Given the description of an element on the screen output the (x, y) to click on. 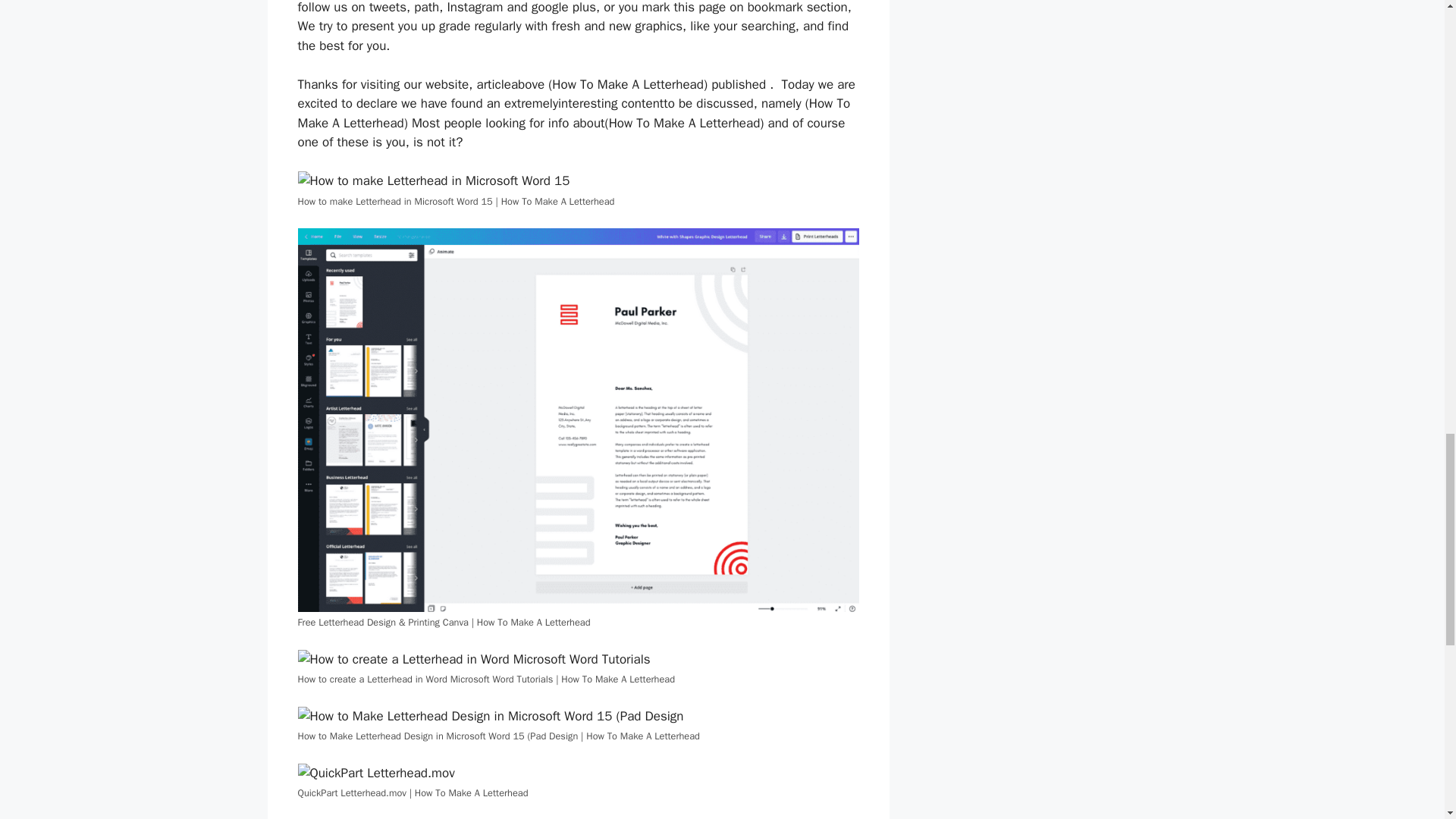
How to create a Letterhead in Word  Microsoft Word Tutorials (473, 659)
How to make Letterhead in Microsoft Word 15 (433, 180)
QuickPart Letterhead.mov (375, 772)
